Given the description of an element on the screen output the (x, y) to click on. 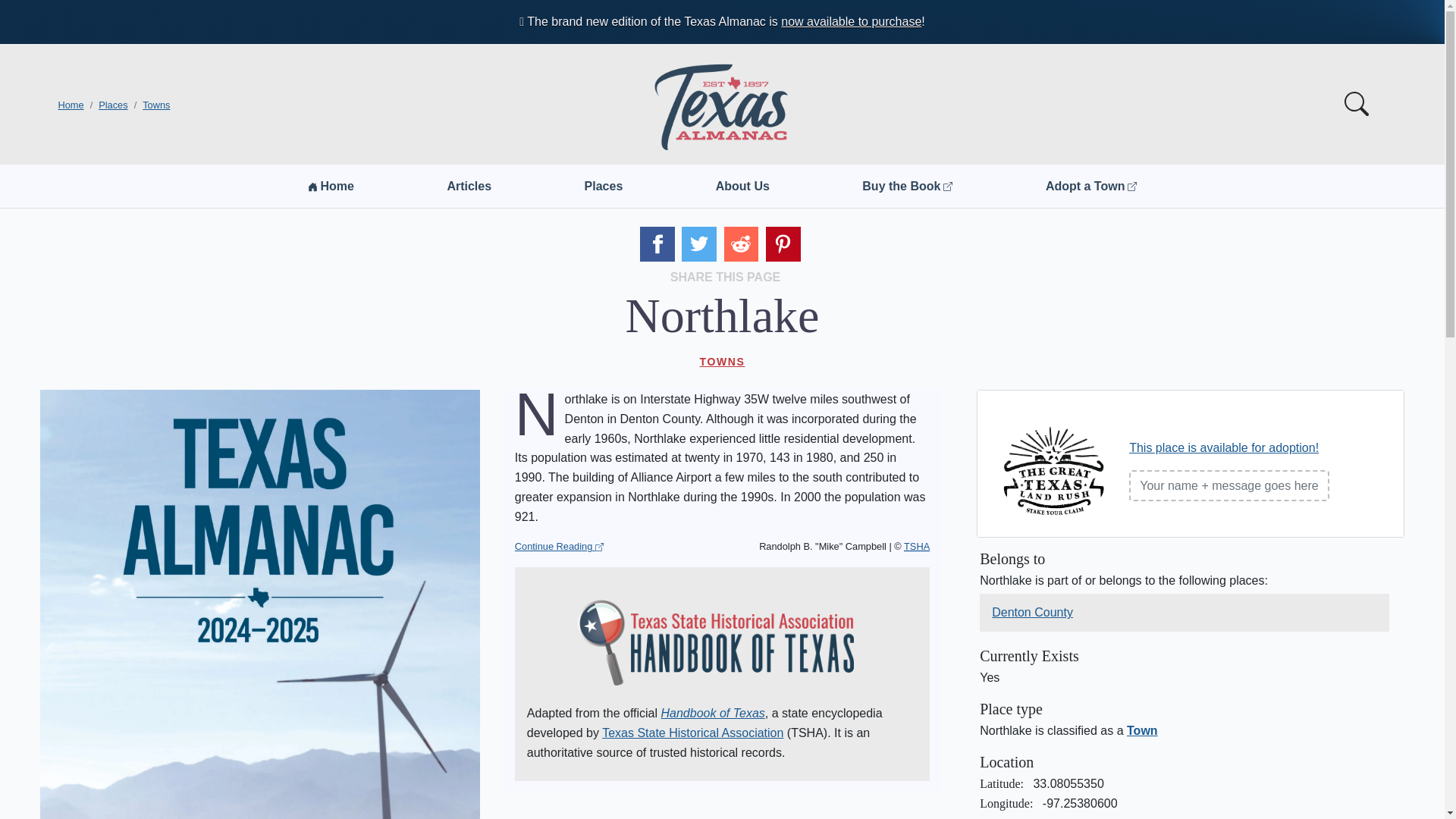
Texas State Historical Association (692, 732)
About Us (743, 186)
Continue Reading (559, 546)
Adopt a Town (1090, 186)
Handbook of Texas (713, 712)
Buy the Book (907, 186)
now available to purchase (850, 21)
Places (113, 105)
Denton County (1032, 612)
Articles (469, 186)
Town (1141, 730)
TSHA (917, 546)
This place is available for adoption! (1224, 447)
Towns (156, 105)
TOWNS (722, 361)
